Given the description of an element on the screen output the (x, y) to click on. 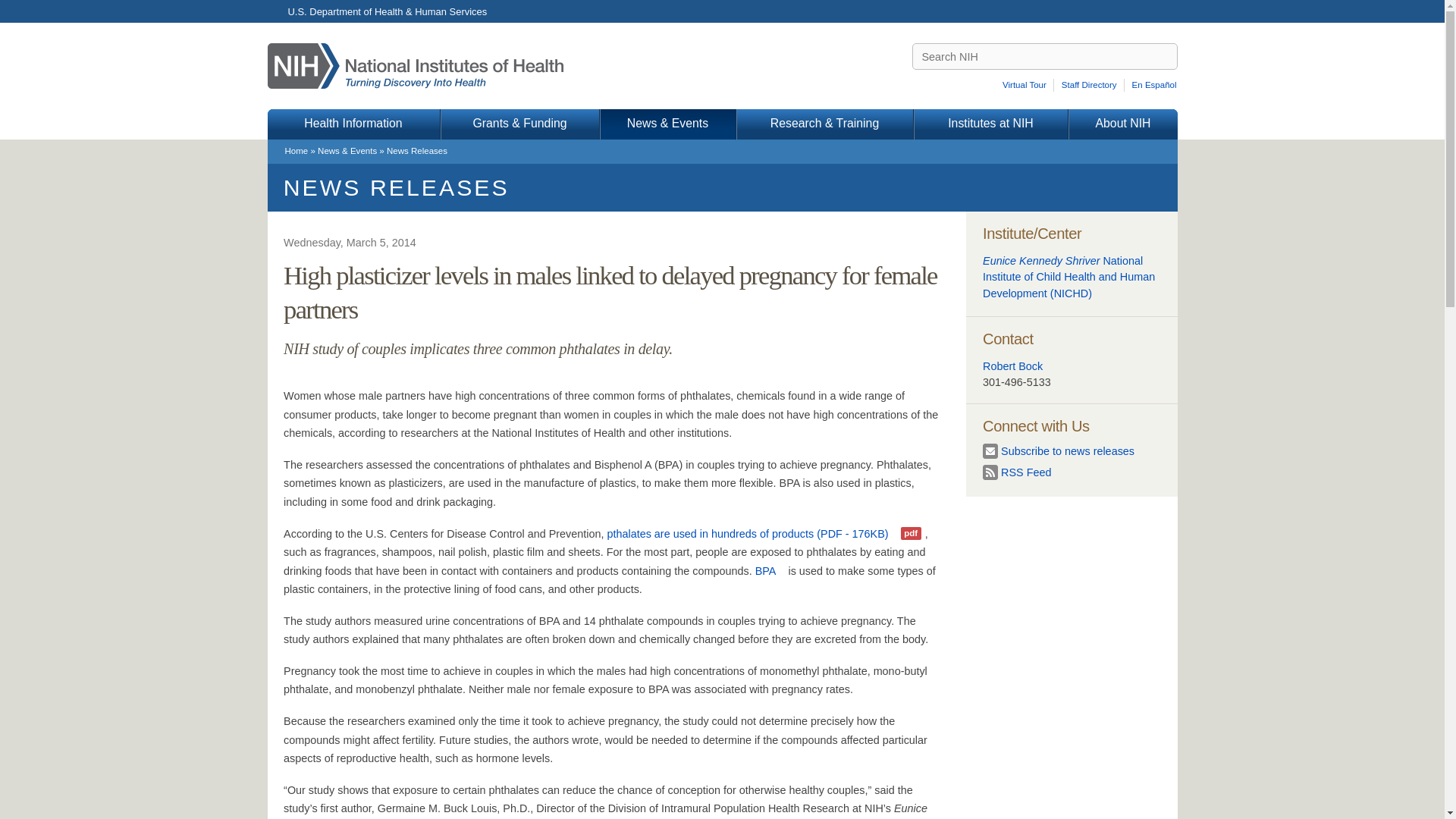
Search (1164, 56)
Search (1164, 56)
Virtual Tour (1026, 84)
Staff Directory (1091, 84)
Search (1164, 56)
Health Information (352, 123)
